Given the description of an element on the screen output the (x, y) to click on. 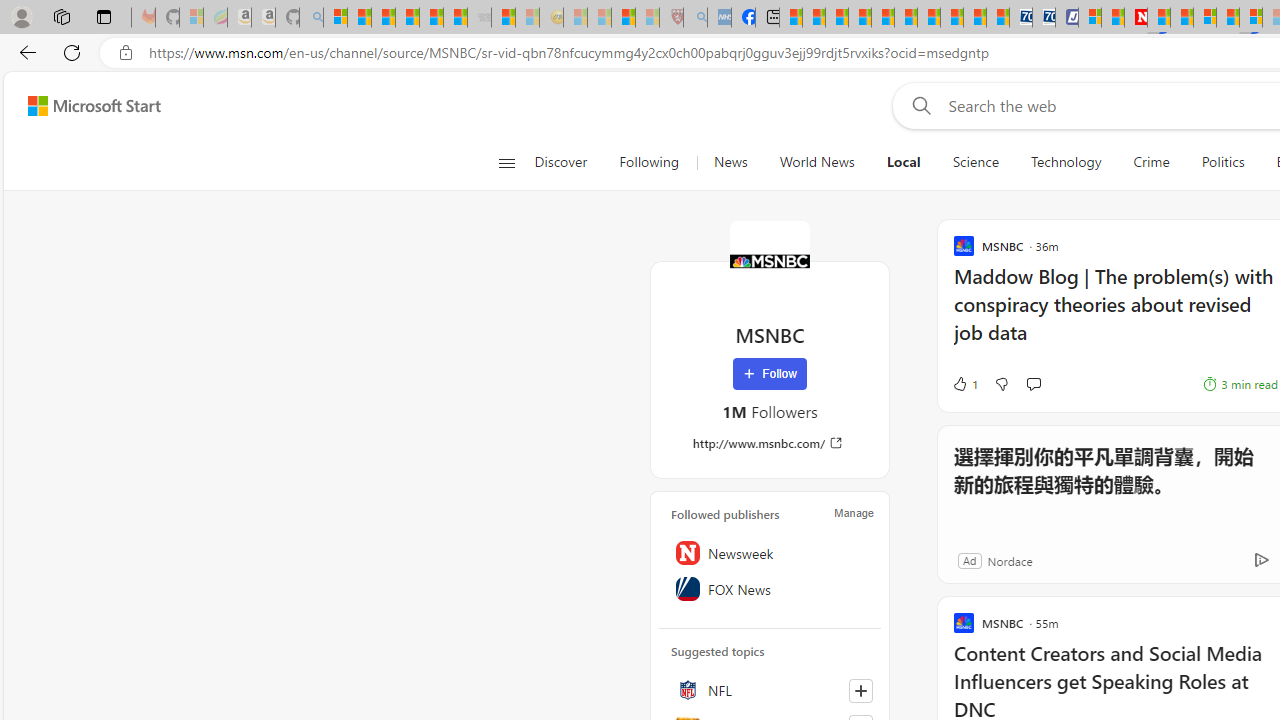
http://www.msnbc.com/ (769, 443)
1 Like (964, 384)
Follow this topic (860, 690)
